Given the description of an element on the screen output the (x, y) to click on. 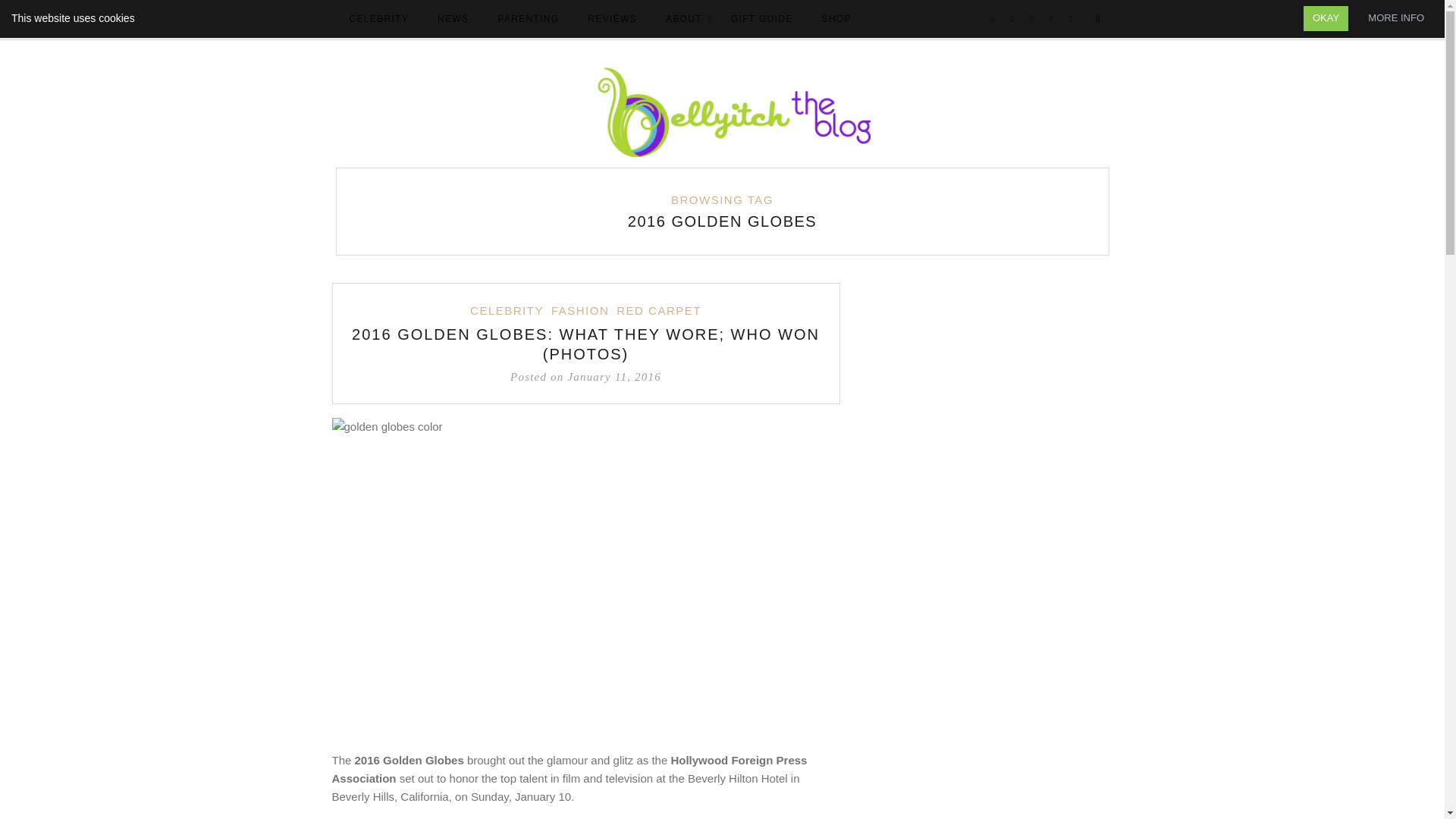
Facebook (993, 19)
FASHION (579, 311)
Instagram (1032, 19)
NEWS (452, 19)
CELEBRITY (506, 311)
Twitter (1012, 19)
2016-01-11 02:09:08 (585, 376)
SHOP (836, 19)
ABOUT (684, 19)
Pinterest (1051, 19)
PARENTING (527, 19)
RED CARPET (658, 311)
REVIEWS (611, 19)
GIFT GUIDE (761, 19)
